Given the description of an element on the screen output the (x, y) to click on. 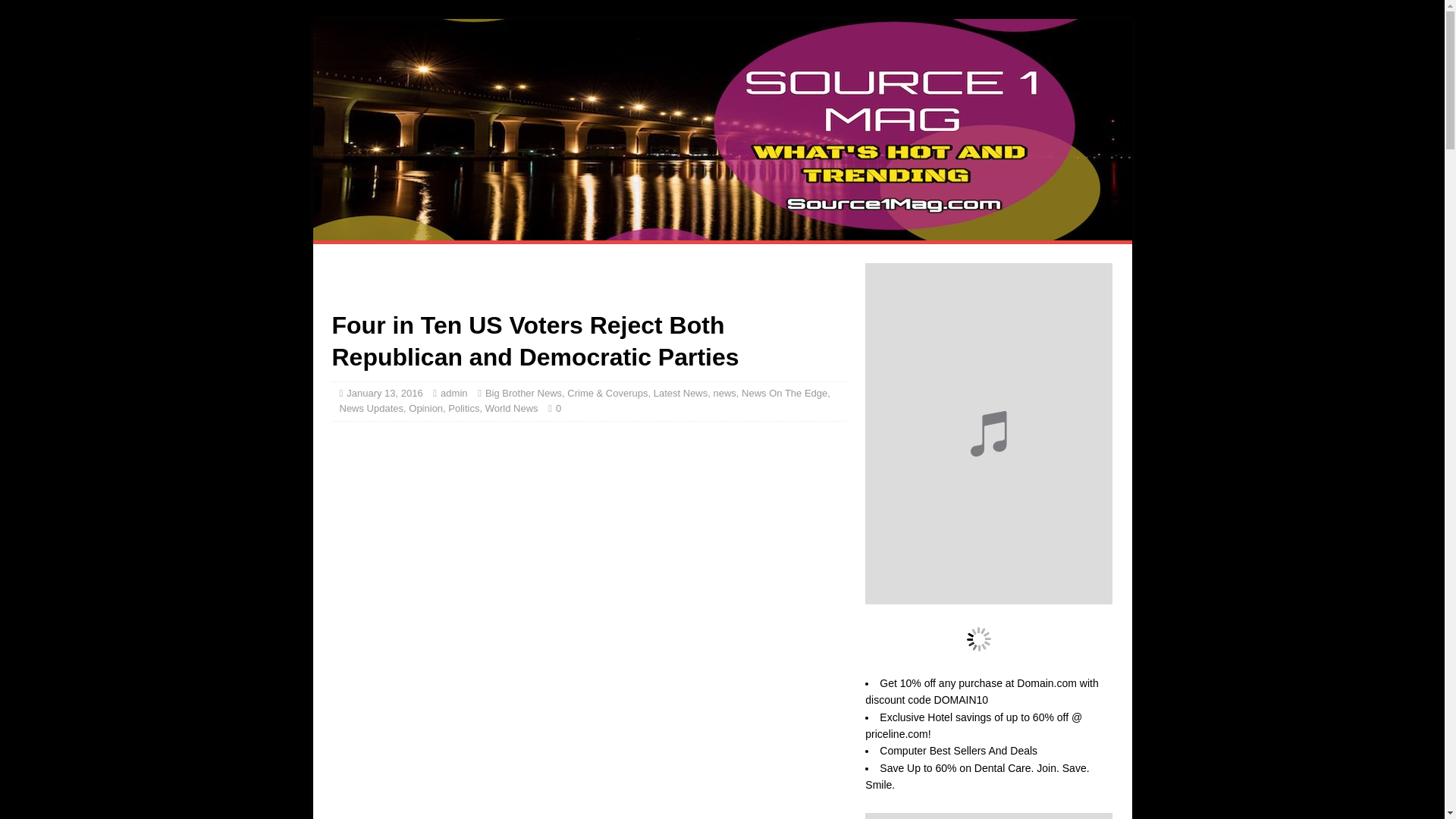
News Updates (371, 408)
January 13, 2016 (384, 392)
Big Brother News (523, 392)
Search (56, 11)
News On The Edge (784, 392)
Source 1 Mag  - What's Hot And Trending (722, 232)
admin (454, 392)
news (724, 392)
Politics (463, 408)
Latest News (680, 392)
